Given the description of an element on the screen output the (x, y) to click on. 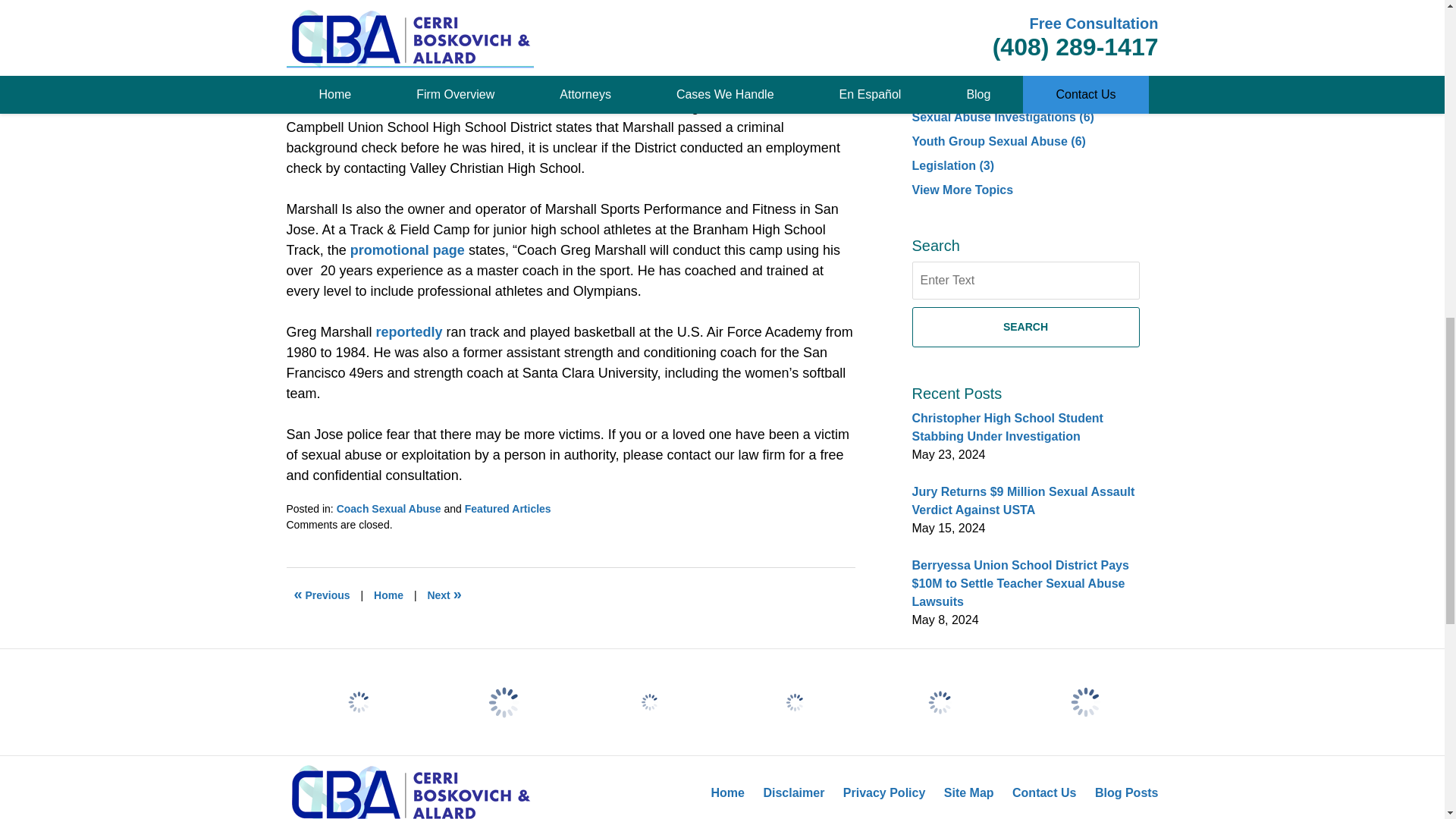
Bay Area Track Coach Chioke Robinson Arrested for Sex Crimes (443, 595)
View all posts in Coach Sexual Abuse (388, 508)
View all posts in Featured Articles (507, 508)
